Given the description of an element on the screen output the (x, y) to click on. 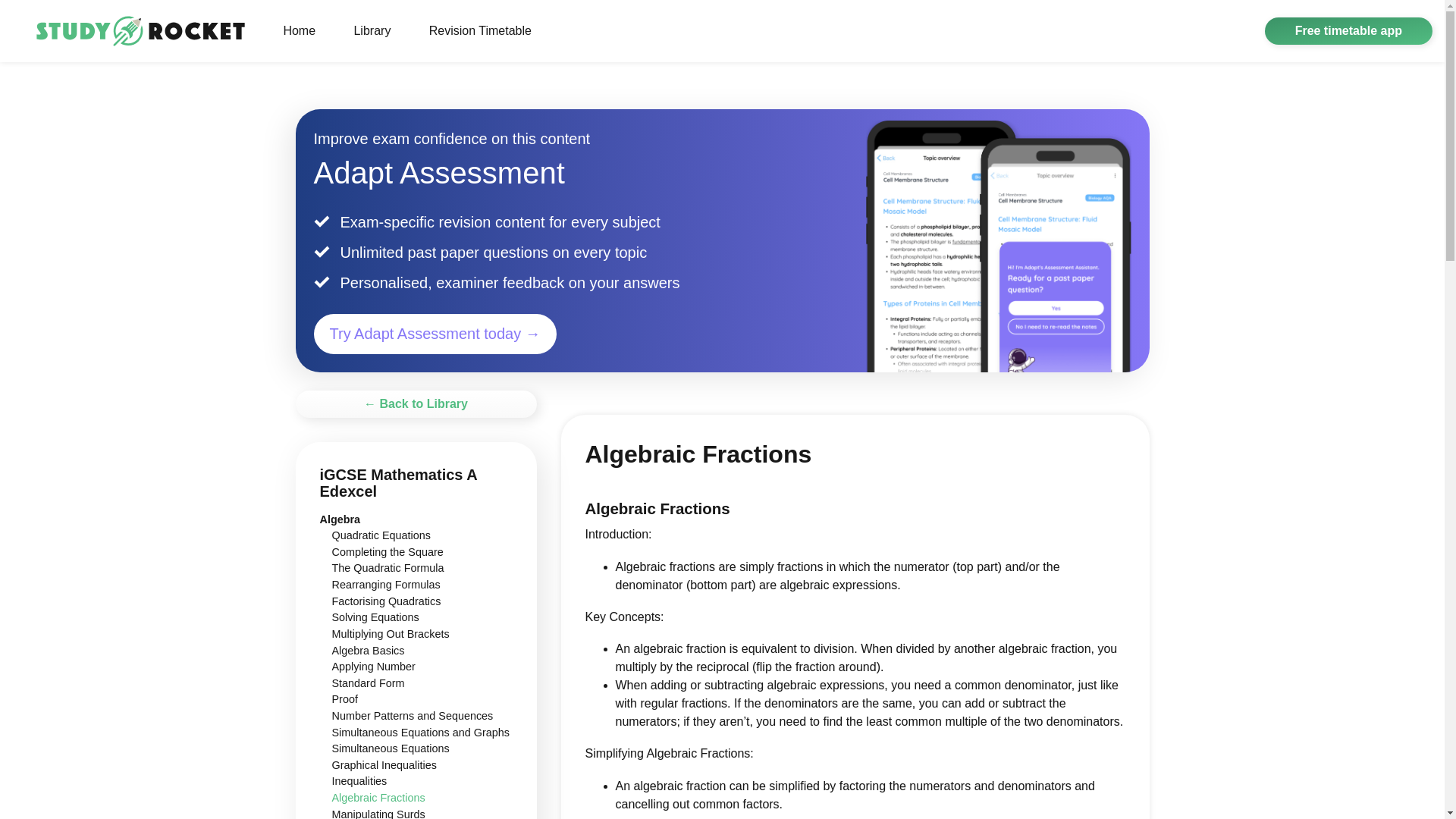
Standard Form (367, 683)
Quadratic Equations (380, 535)
The Quadratic Formula (387, 567)
Proof (344, 698)
Completing the Square (387, 551)
Number Patterns and Sequences (412, 715)
Manipulating Surds (378, 813)
Applying Number (372, 666)
Rearranging Formulas (386, 584)
Graphical Inequalities (383, 765)
